Given the description of an element on the screen output the (x, y) to click on. 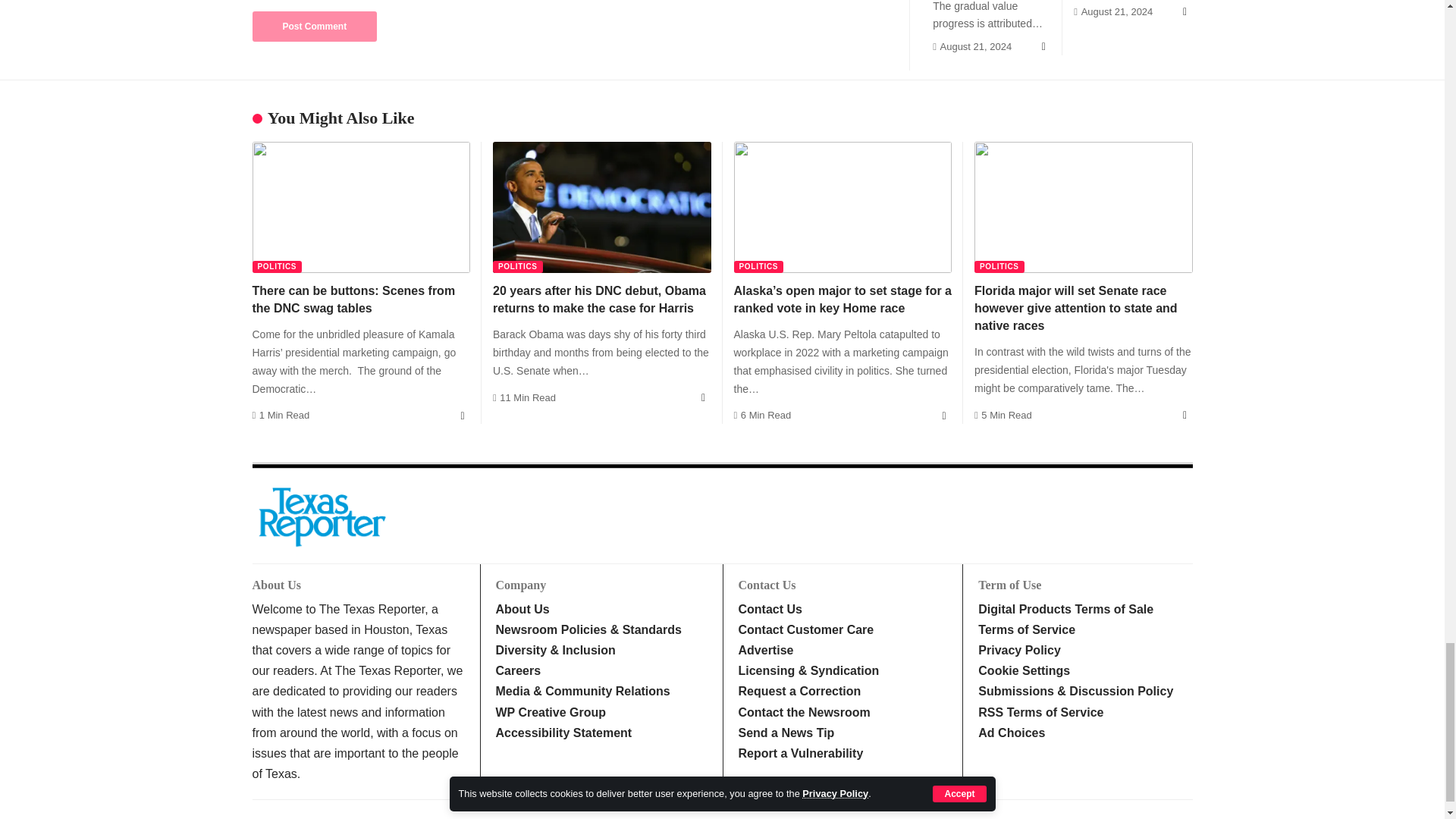
Post Comment (314, 26)
There can be buttons: Scenes from the DNC swag tables (360, 206)
